Given the description of an element on the screen output the (x, y) to click on. 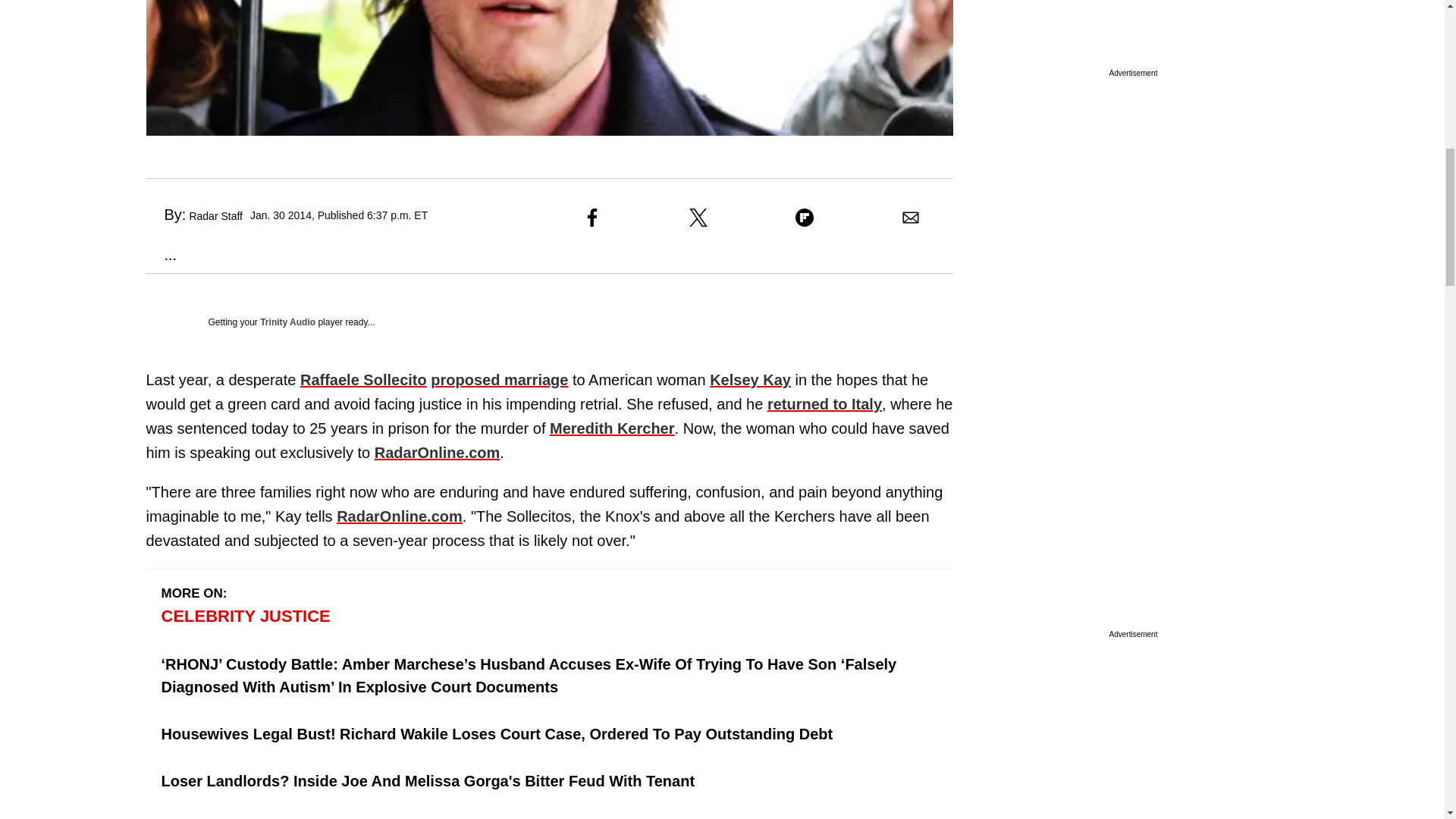
Share to Email (909, 217)
Meredith Kercher (612, 428)
Share to Facebook (590, 217)
proposed marriage (498, 379)
Share to Flipboard (803, 217)
RadarOnline.com (399, 515)
Share to X (697, 217)
Raffaele Sollecito (362, 379)
RadarOnline.com (437, 452)
Kelsey Kay (750, 379)
returned to Italy (824, 403)
Trinity Audio (287, 321)
... (160, 254)
